Given the description of an element on the screen output the (x, y) to click on. 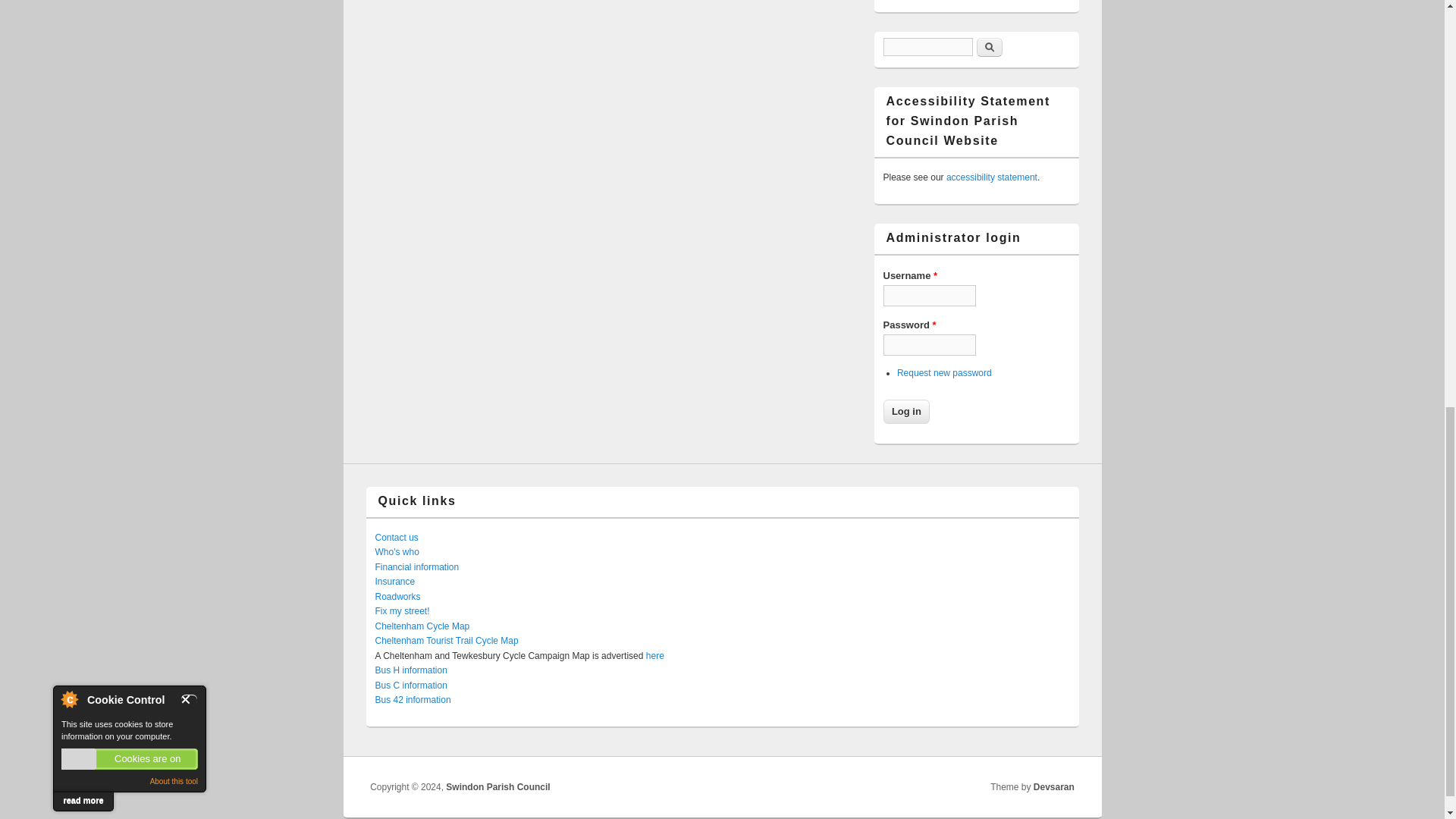
Cheltenham Cycle Map (421, 625)
Roadworks (397, 596)
Cheltenham Tourist Trail Cycle Map (446, 640)
Request new password via e-mail. (943, 372)
Search (989, 46)
Log in (906, 411)
Search (989, 46)
Who's who (396, 552)
Financial information (416, 566)
Log in (906, 411)
